Given the description of an element on the screen output the (x, y) to click on. 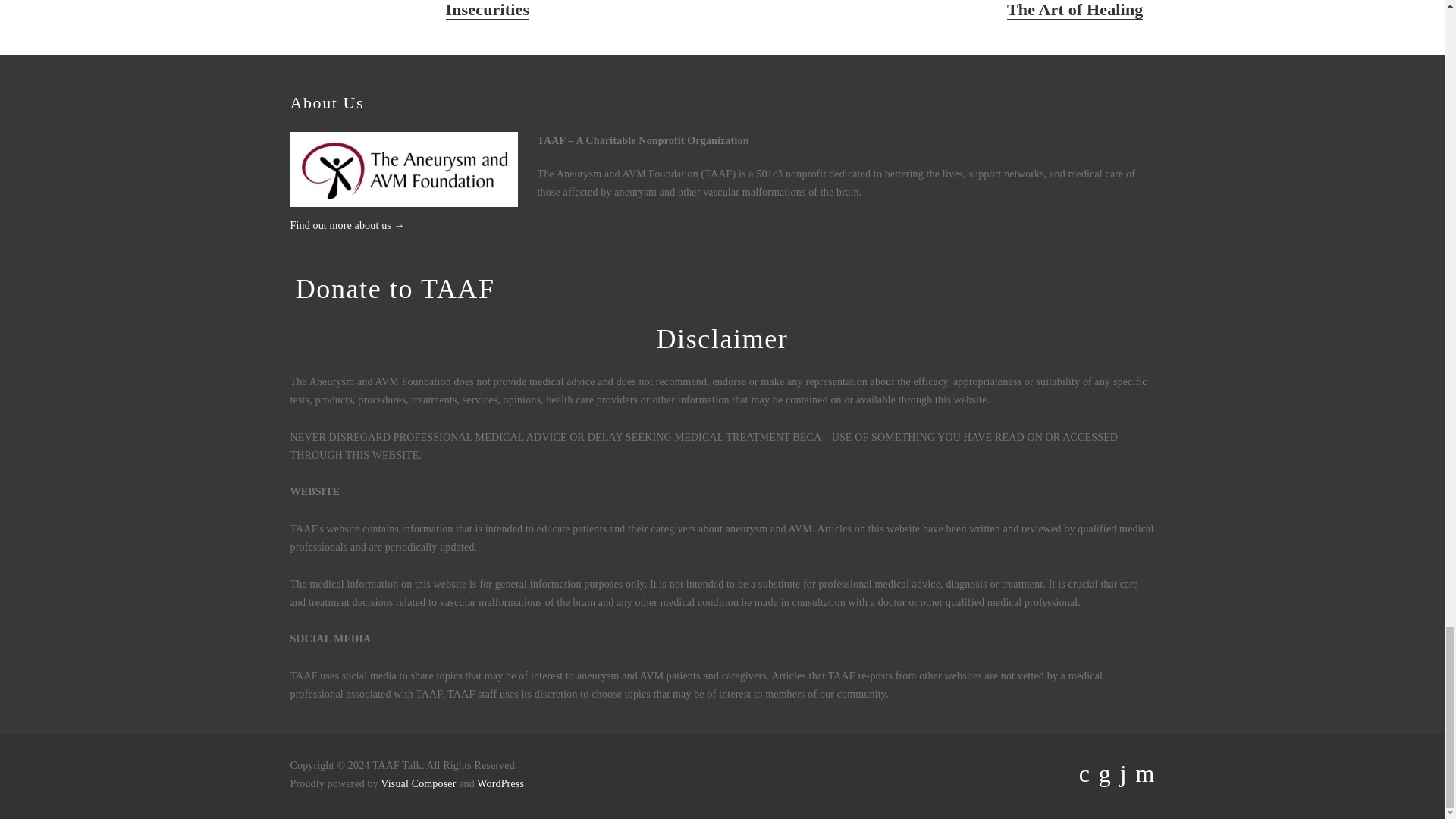
Donate to TAAF (395, 288)
WordPress (1004, 8)
Visual Composer (500, 784)
